Given the description of an element on the screen output the (x, y) to click on. 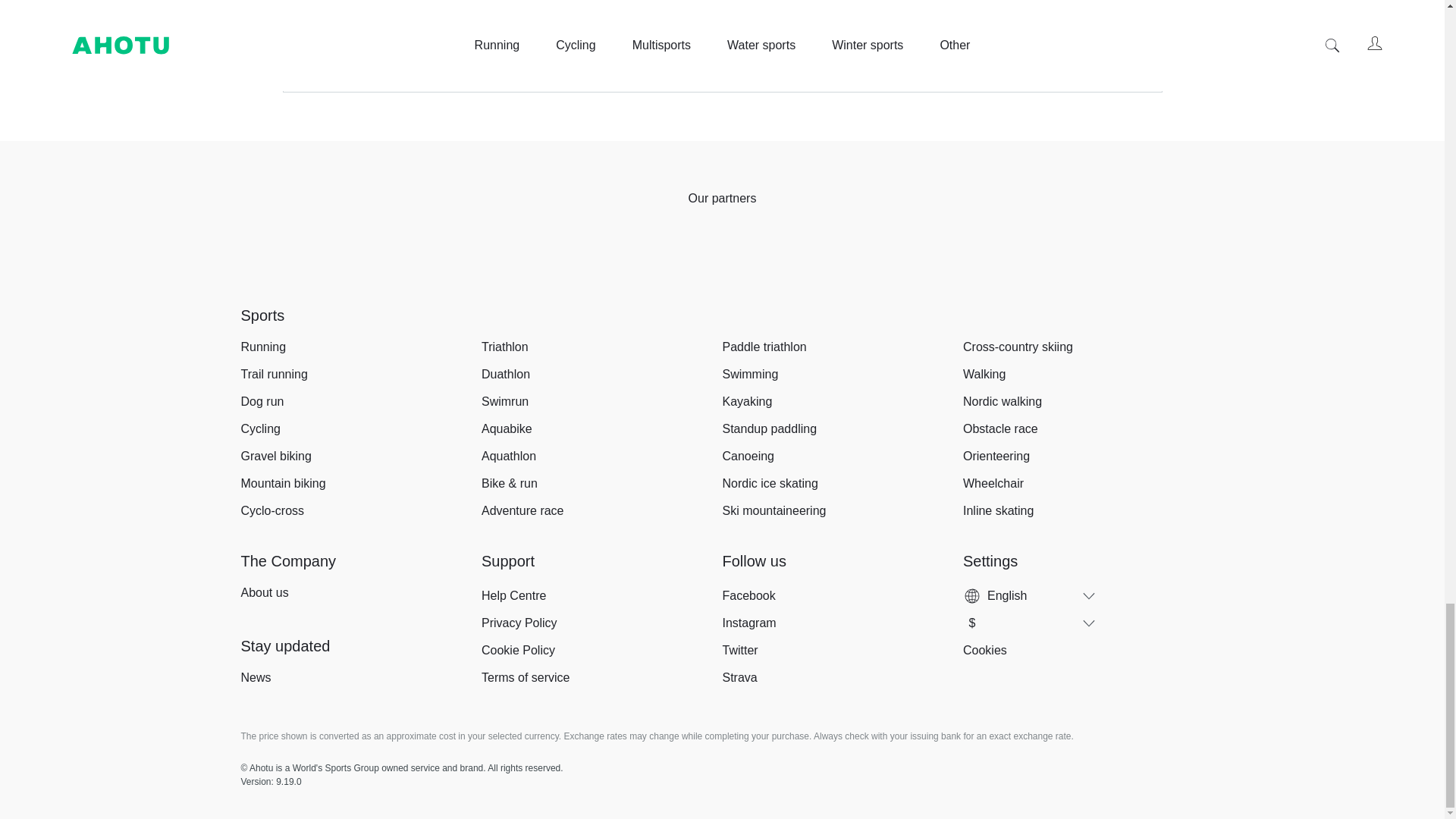
Subscribe (1075, 25)
Terms of Service (936, 60)
Privacy Policy (1018, 60)
